Given the description of an element on the screen output the (x, y) to click on. 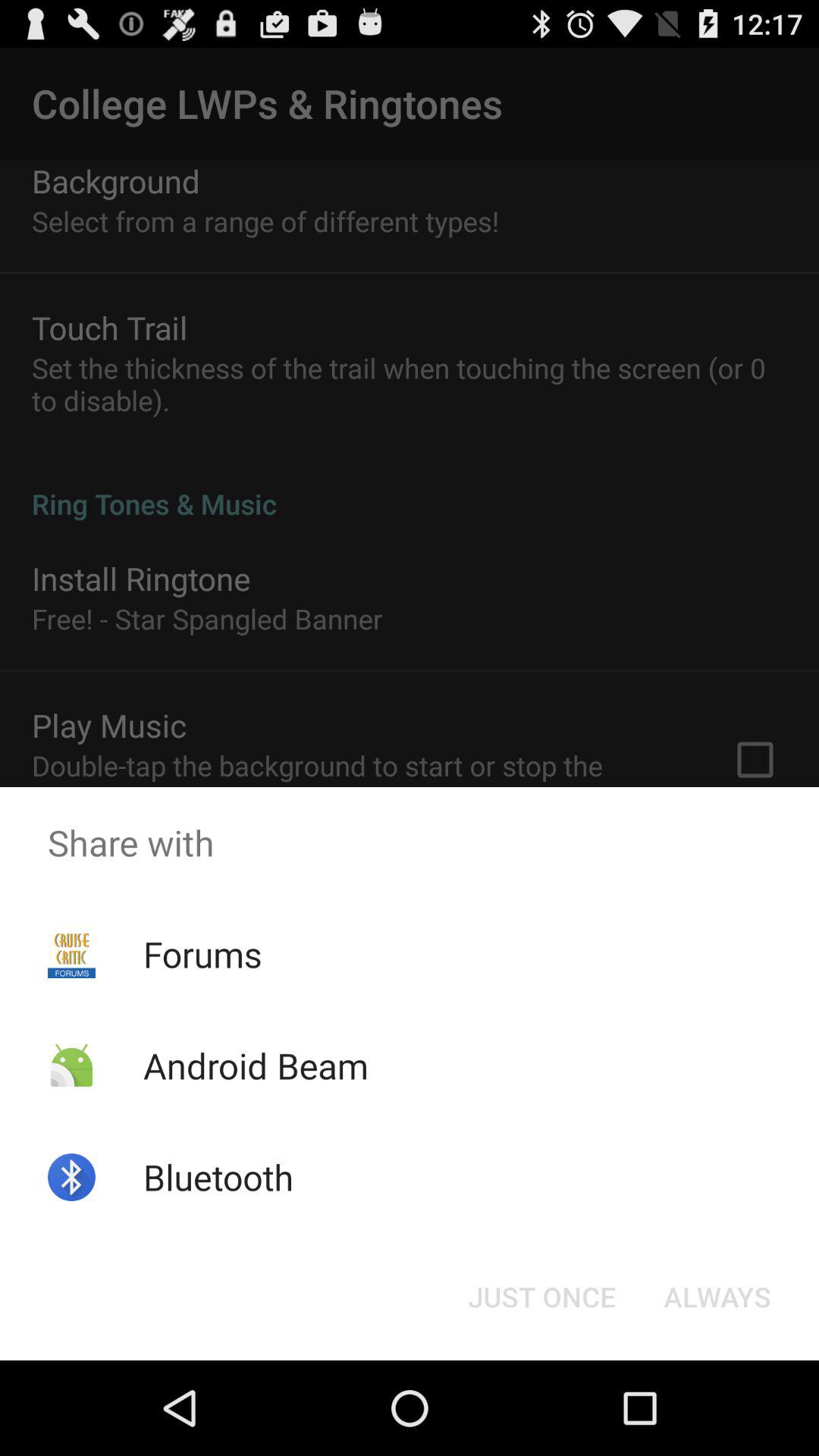
flip to always (717, 1296)
